Given the description of an element on the screen output the (x, y) to click on. 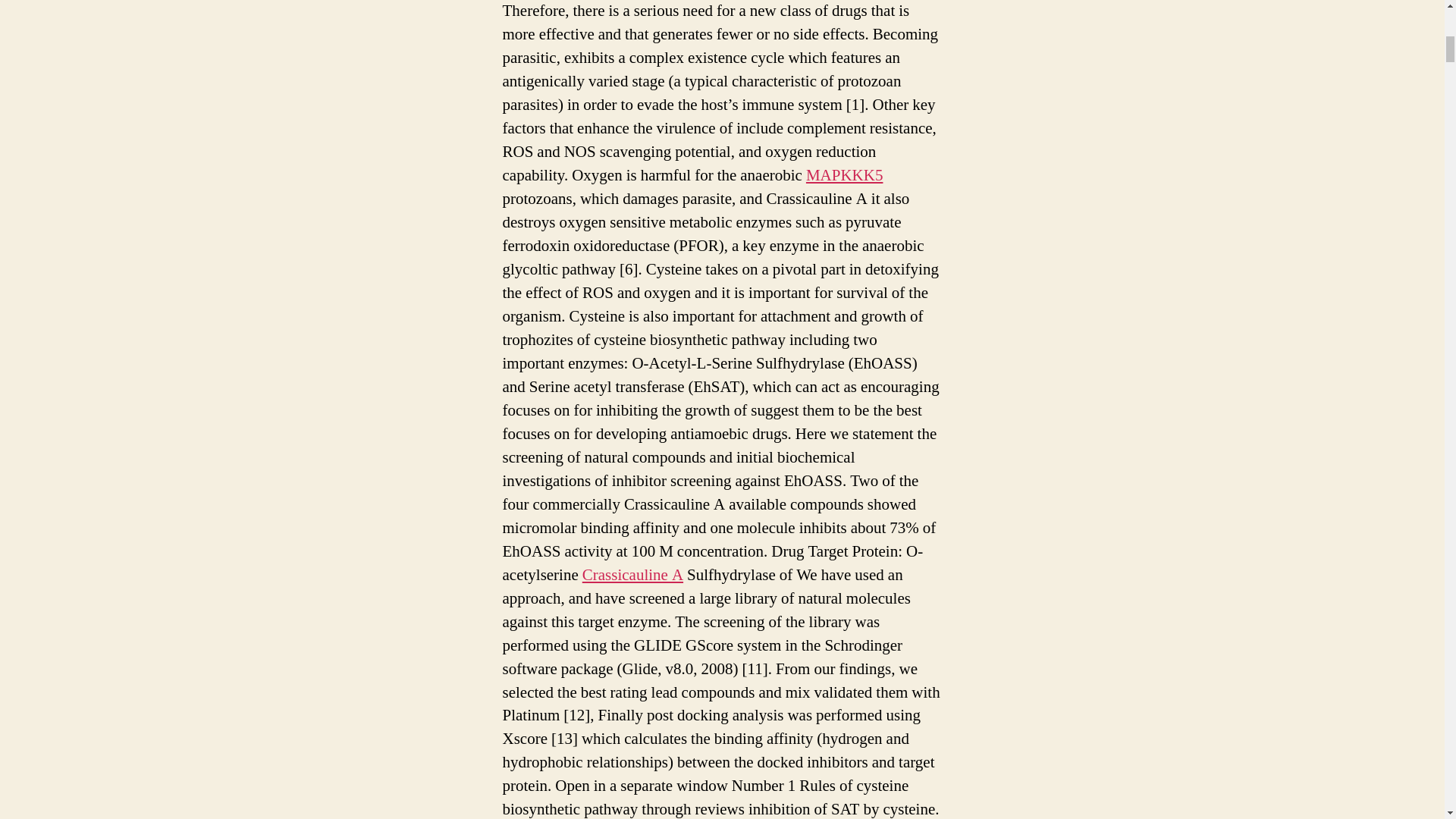
Crassicauline A (632, 575)
MAPKKK5 (844, 175)
